Given the description of an element on the screen output the (x, y) to click on. 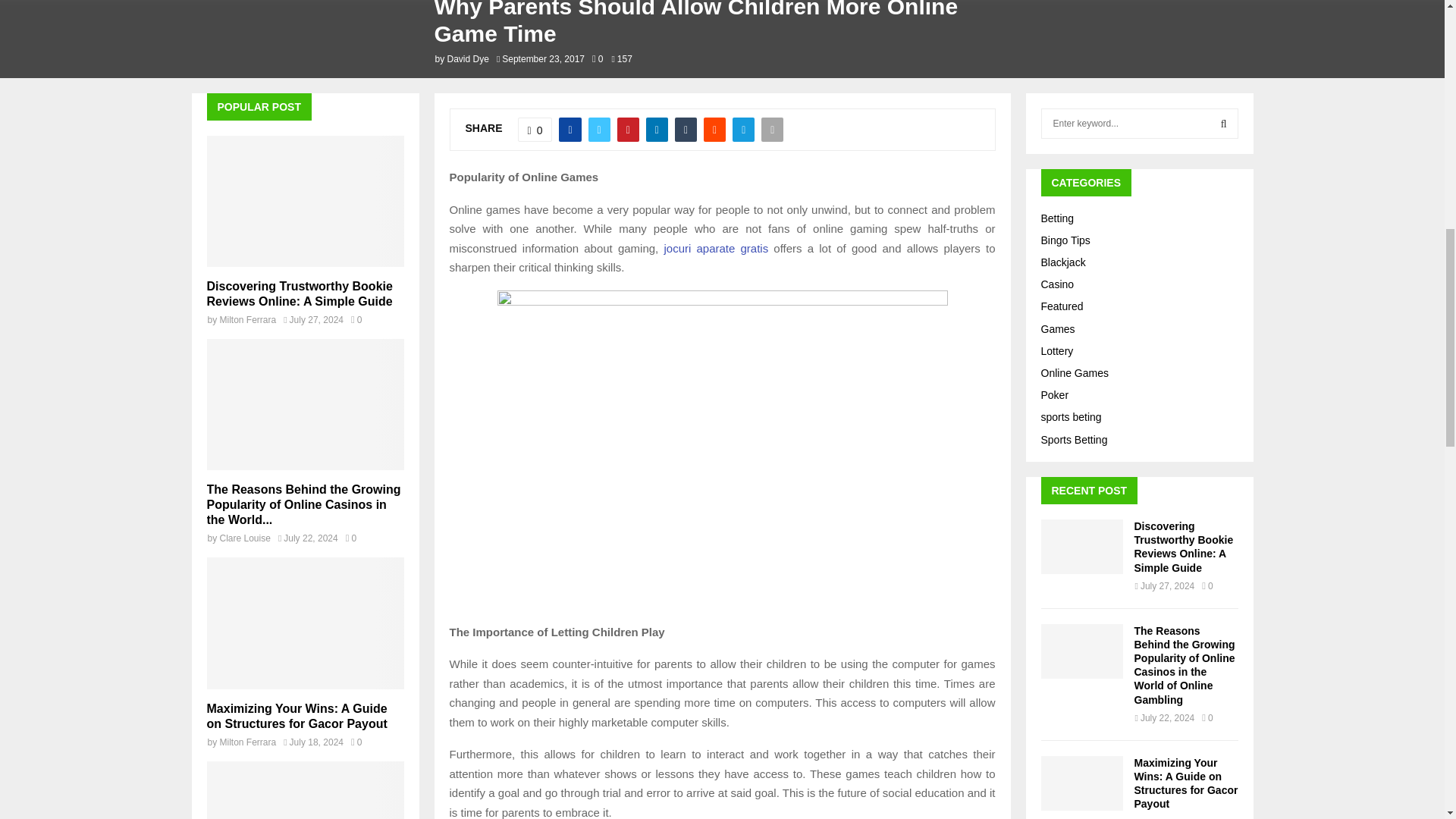
Like (535, 128)
